Given the description of an element on the screen output the (x, y) to click on. 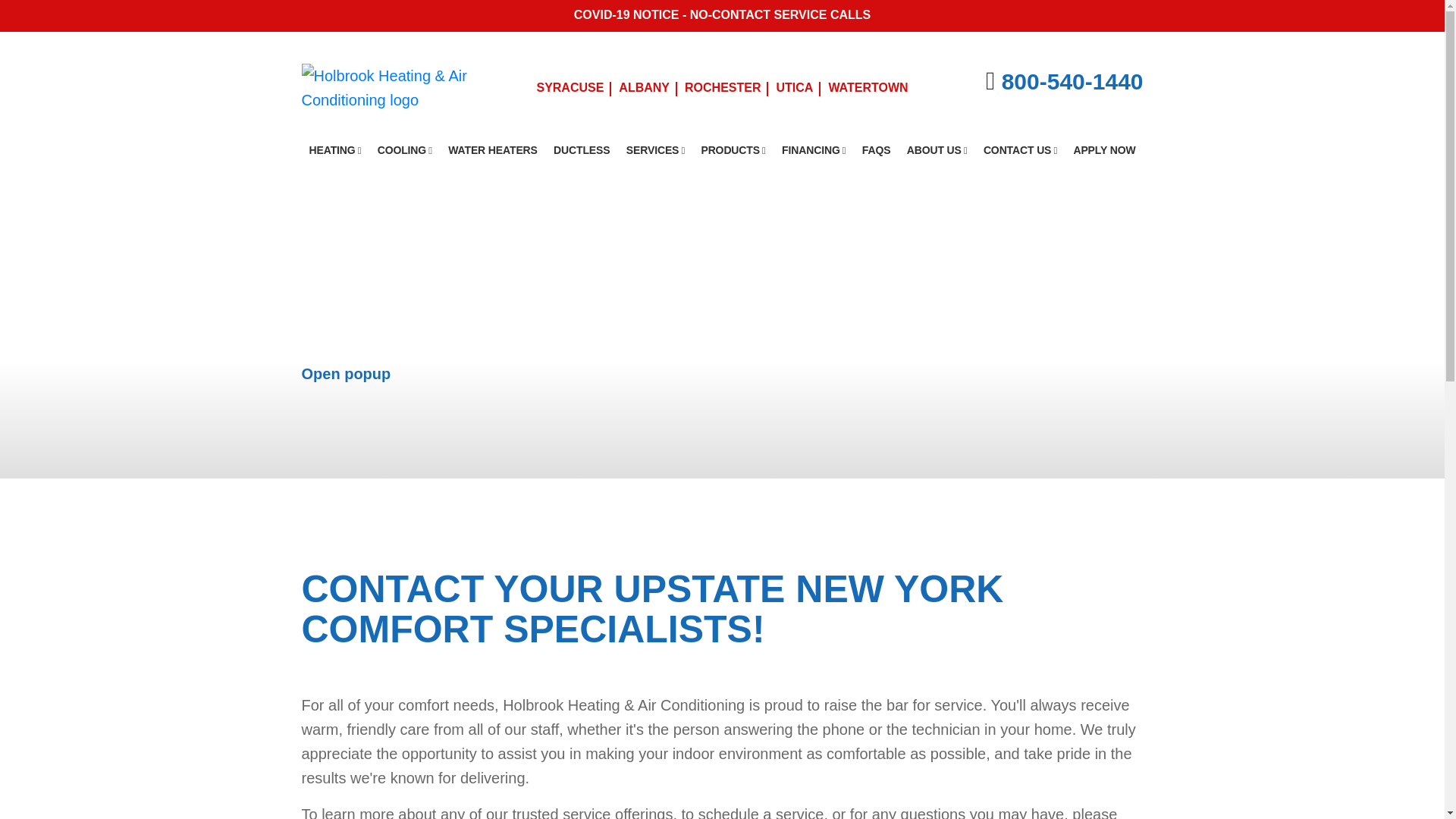
WATERTOWN (868, 87)
ROCHESTER (722, 87)
UTICA (794, 87)
ALBANY (644, 87)
DUCTLESS (581, 150)
SYRACUSE (569, 87)
800-540-1440 (1071, 81)
WATER HEATERS (492, 150)
COOLING (404, 150)
HEATING (335, 150)
SERVICES (655, 150)
